Given the description of an element on the screen output the (x, y) to click on. 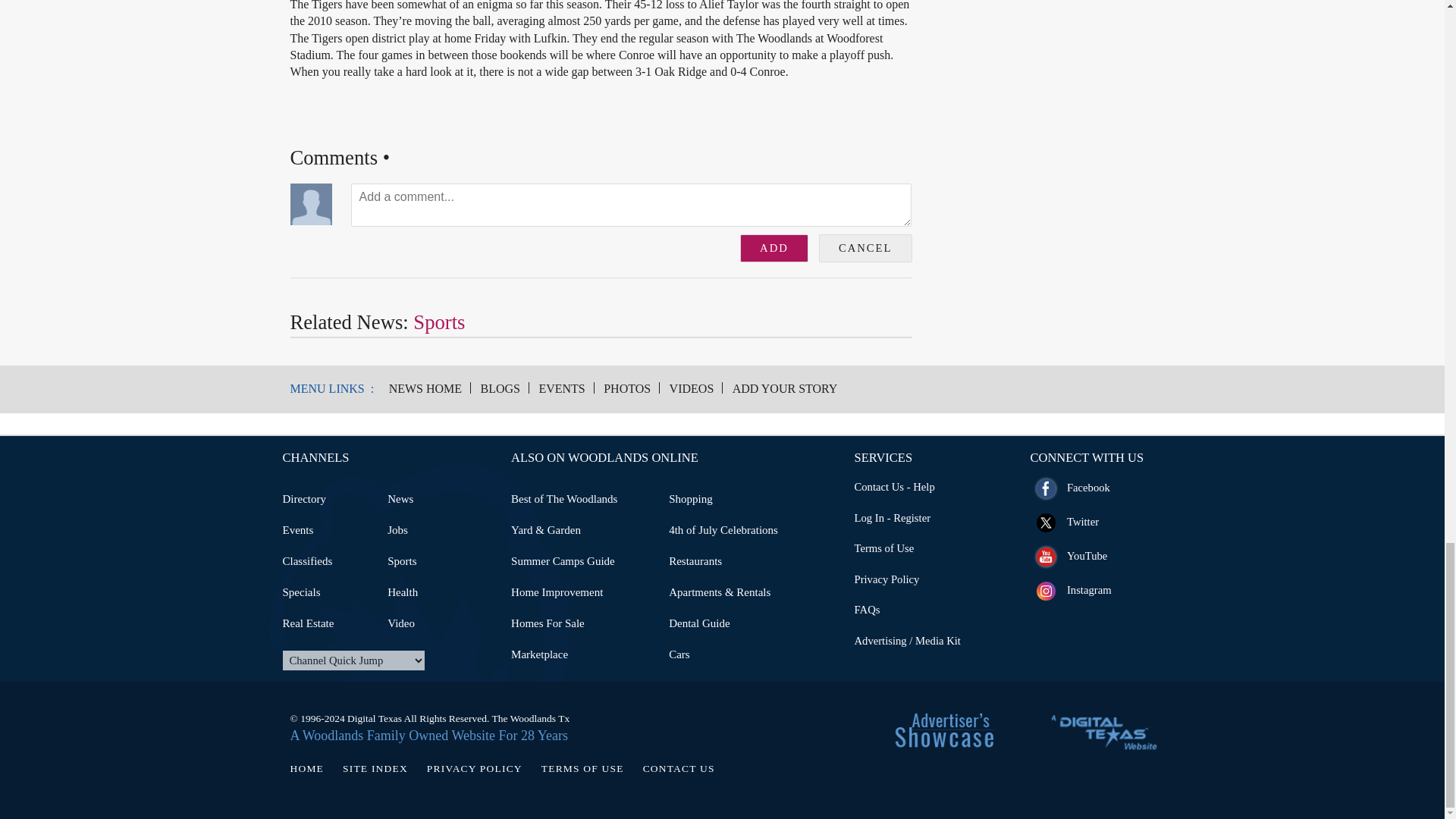
Add (773, 248)
Cancel (865, 248)
